Given the description of an element on the screen output the (x, y) to click on. 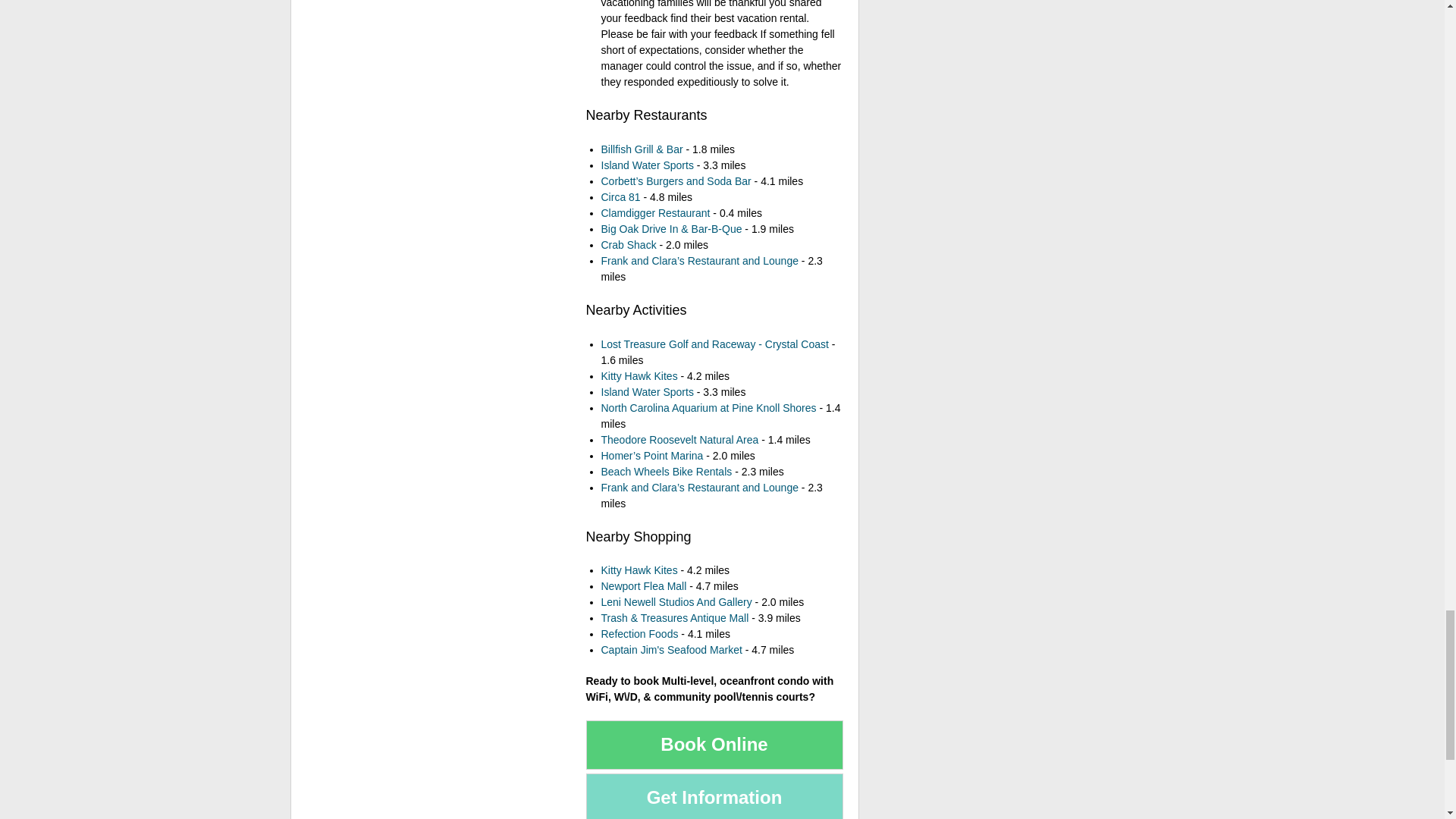
Circa 81 (619, 196)
Island Water Sports (646, 164)
Lost Treasure Golf and Raceway - Crystal Coast (713, 344)
Clamdigger Restaurant (654, 213)
Crab Shack (627, 244)
